Given the description of an element on the screen output the (x, y) to click on. 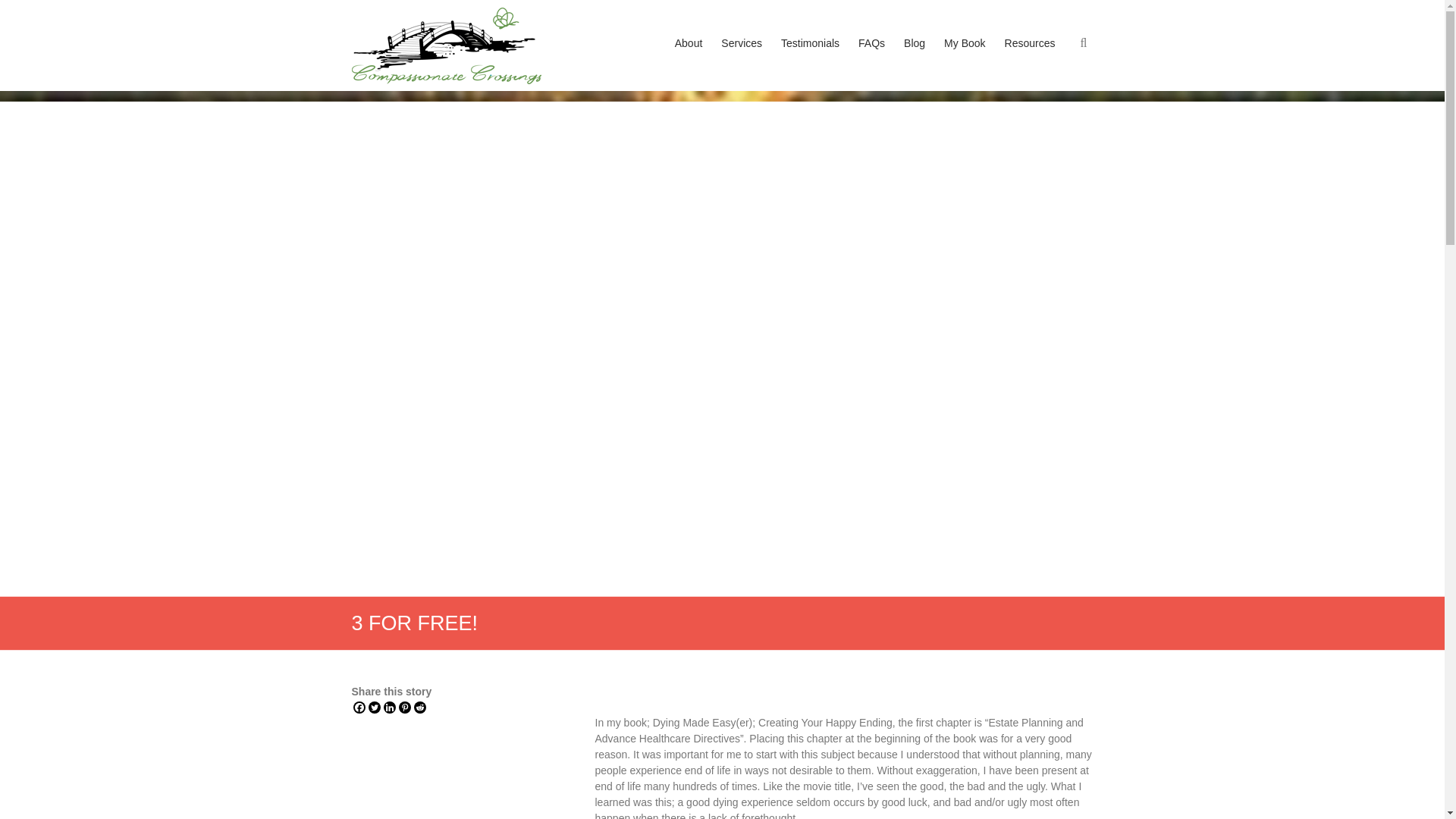
Twitter (374, 707)
Pinterest (404, 707)
Facebook (359, 707)
Linkedin (390, 707)
Reddit (419, 707)
